Given the description of an element on the screen output the (x, y) to click on. 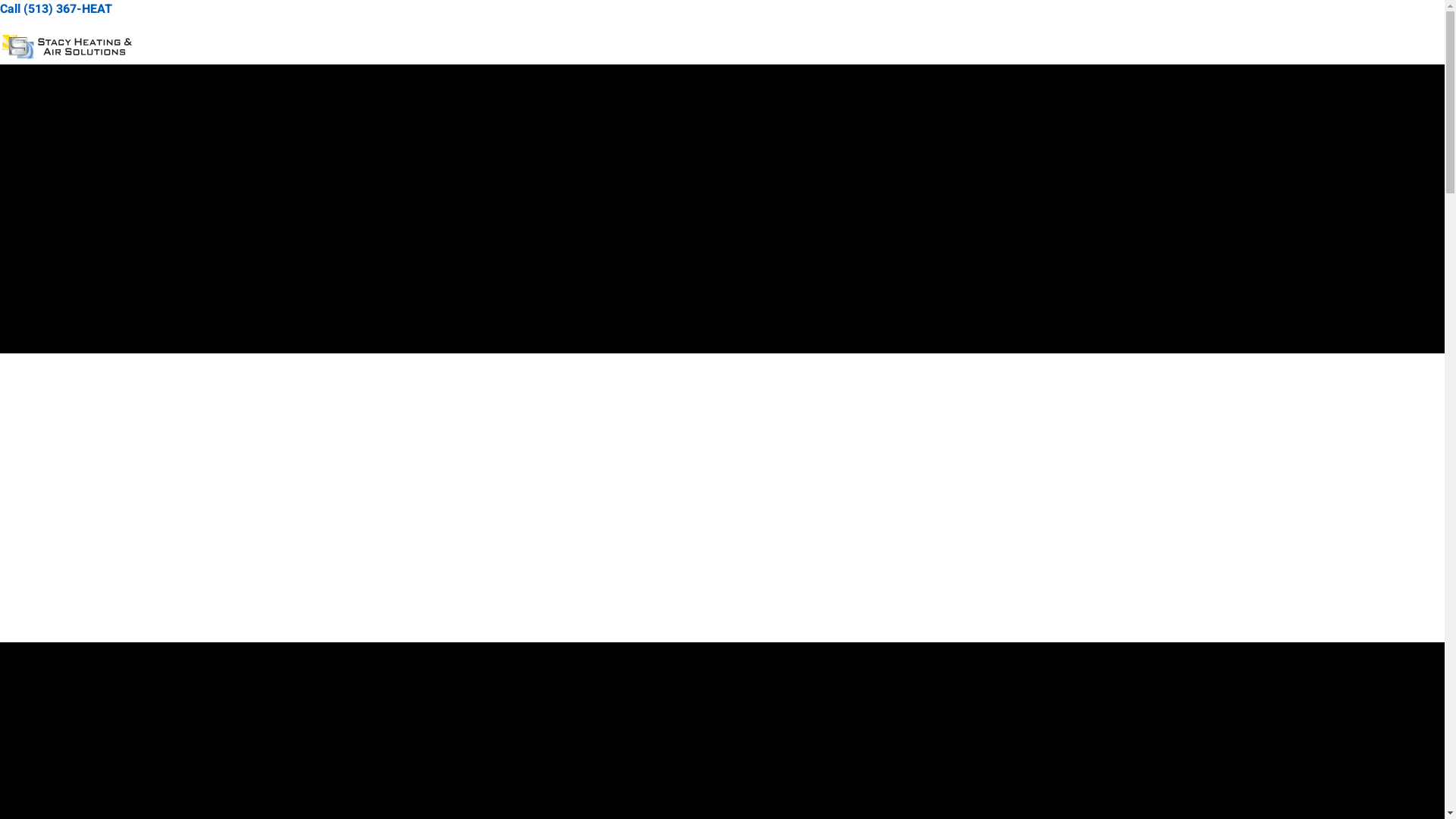
Stacy Heating & Air Solutions Element type: hover (65, 49)
Call (513) 367-HEAT Element type: text (722, 9)
